Given the description of an element on the screen output the (x, y) to click on. 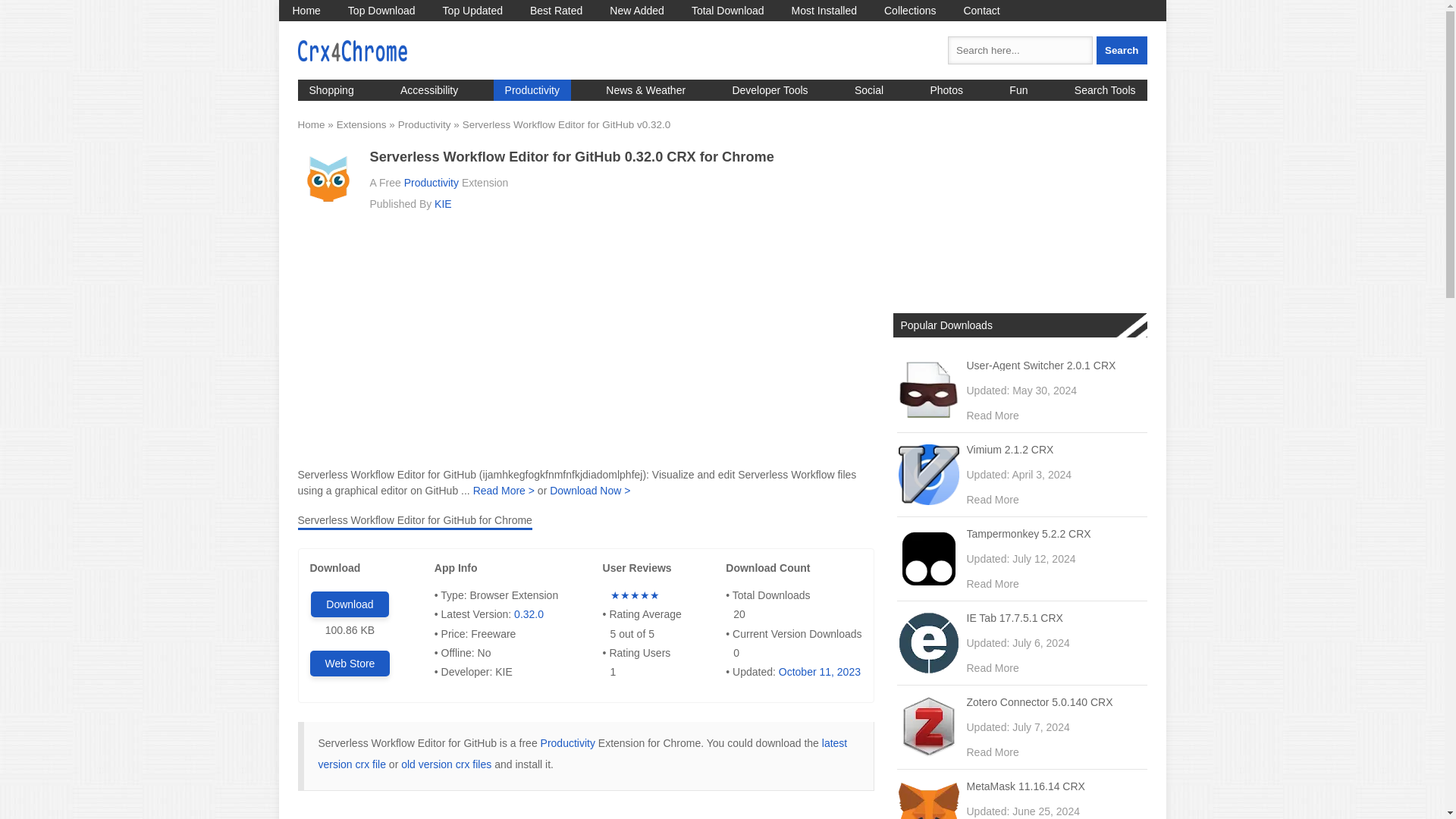
Accessibility (428, 89)
Photos (946, 89)
Contact (981, 10)
Top Download (381, 10)
Social (869, 89)
Top Download (381, 10)
Best Rated (555, 10)
Total Download (727, 10)
Home (306, 10)
New Added (636, 10)
Home (306, 10)
Collections (909, 10)
Total Download (727, 10)
Best Rated (555, 10)
Top Updated (472, 10)
